Given the description of an element on the screen output the (x, y) to click on. 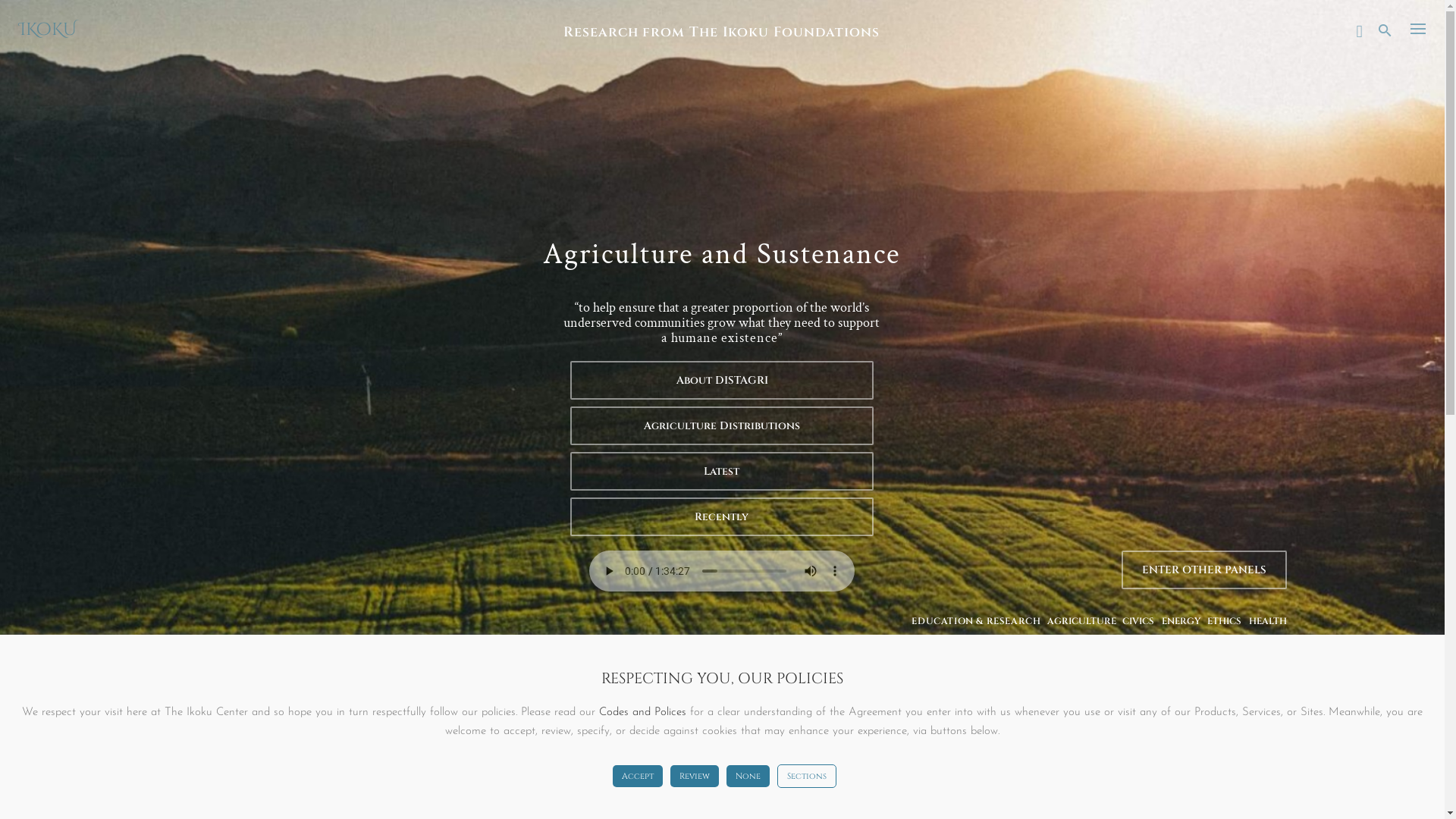
Review Element type: text (694, 776)
ENERGY Element type: text (1180, 620)
Latest Element type: text (725, 470)
HUMANITIES Element type: text (987, 643)
ENTER OTHER PANELS Element type: text (1203, 569)
Agriculture Distributions Element type: text (726, 425)
Accept Element type: text (637, 776)
Sections Element type: text (805, 775)
Recently Element type: text (725, 516)
YOUTH Element type: text (1269, 643)
CIVICS Element type: text (1137, 620)
KNOWLEDGE Element type: text (1122, 643)
HEALTH Element type: text (1267, 620)
RIGHTS Element type: text (1226, 643)
About DISTAGRI Element type: text (721, 379)
AGRICULTURE Element type: text (1081, 620)
None Element type: text (747, 776)
INNOVATION Element type: text (1055, 643)
EDUCATION & RESEARCH Element type: text (975, 620)
OPINION Element type: text (1182, 643)
Codes and Polices Element type: text (642, 712)
ETHICS Element type: text (1224, 620)
